Given the description of an element on the screen output the (x, y) to click on. 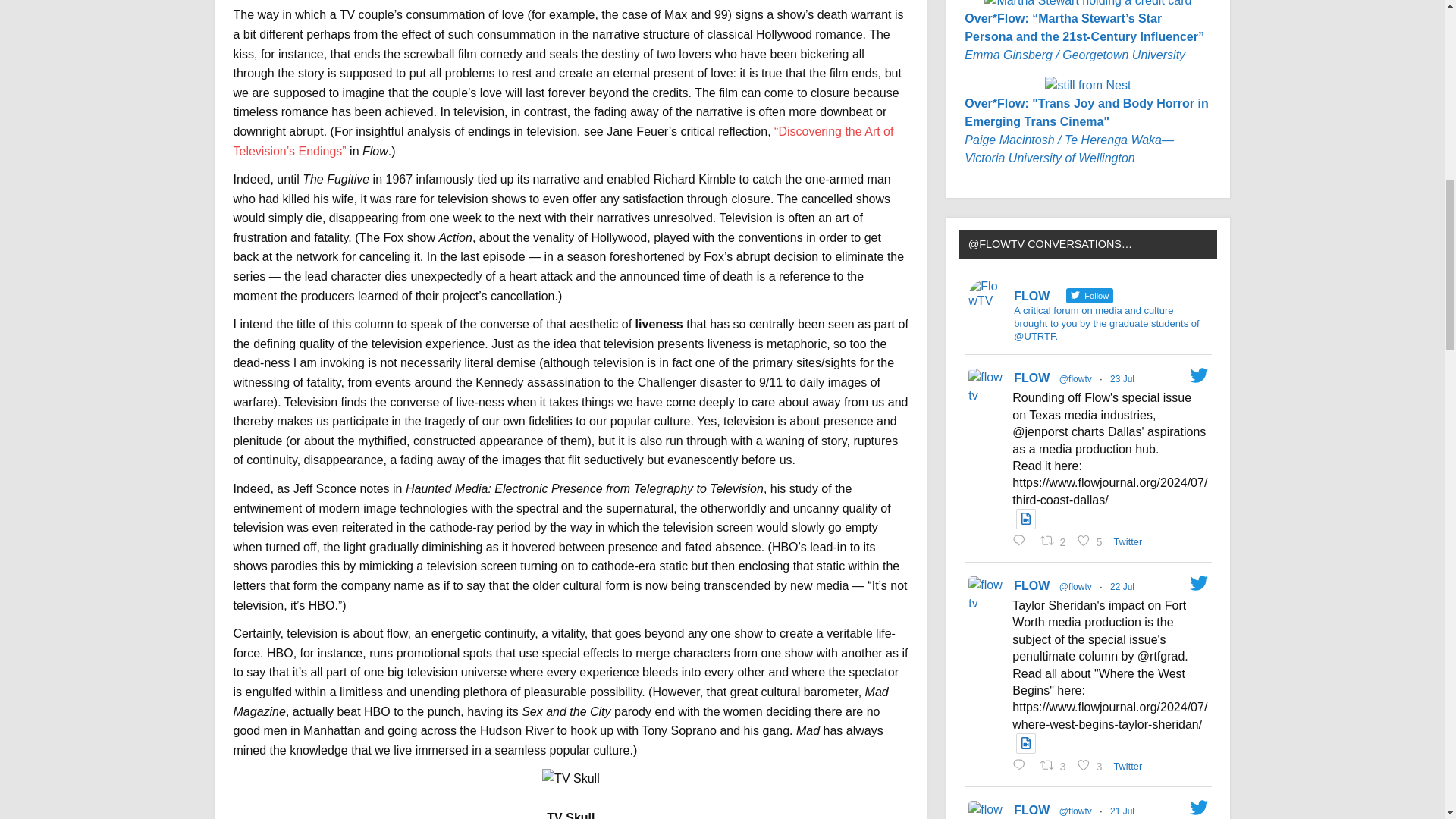
FLOW (1054, 540)
Reply on Twitter 1815784940987969868 (1031, 378)
23 Jul (1091, 540)
